Given the description of an element on the screen output the (x, y) to click on. 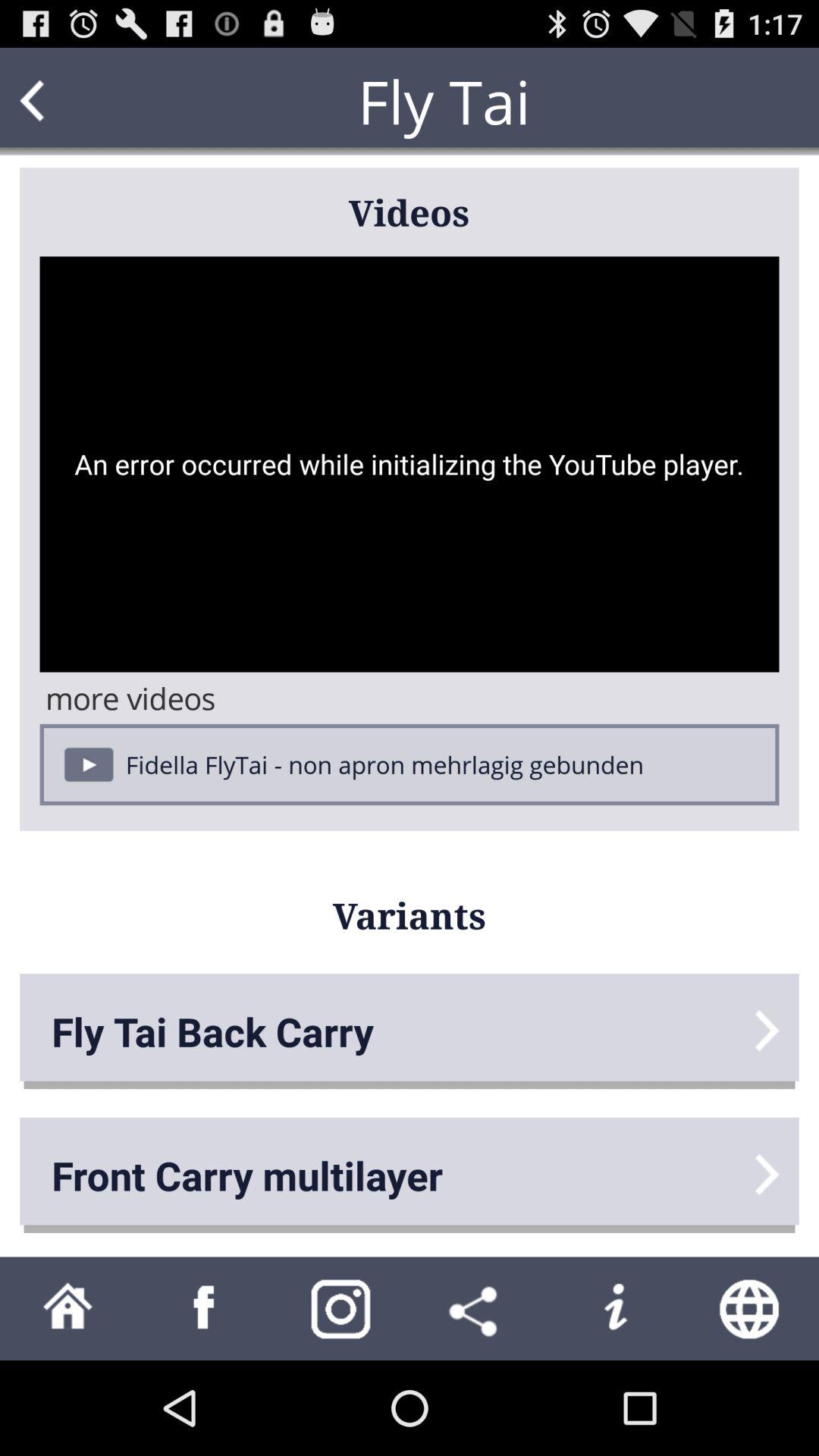
go to facebook (204, 1308)
